Given the description of an element on the screen output the (x, y) to click on. 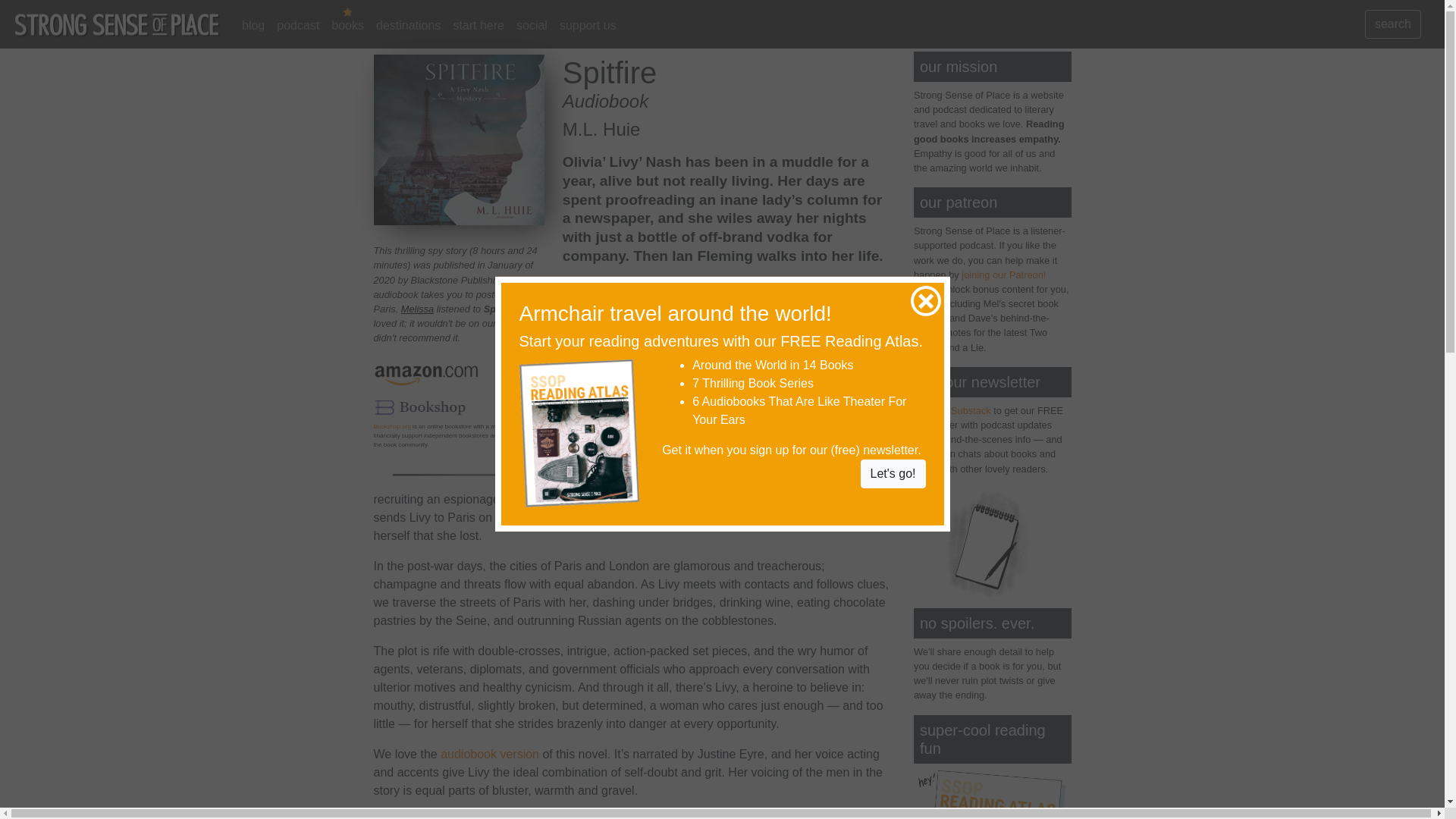
social (532, 25)
books (346, 25)
destinations (407, 25)
search (1393, 23)
support us (588, 25)
start here (478, 25)
Let's go! (893, 473)
Melissa (417, 308)
audiobook version (489, 753)
joining our Patreon! (1002, 274)
